Given the description of an element on the screen output the (x, y) to click on. 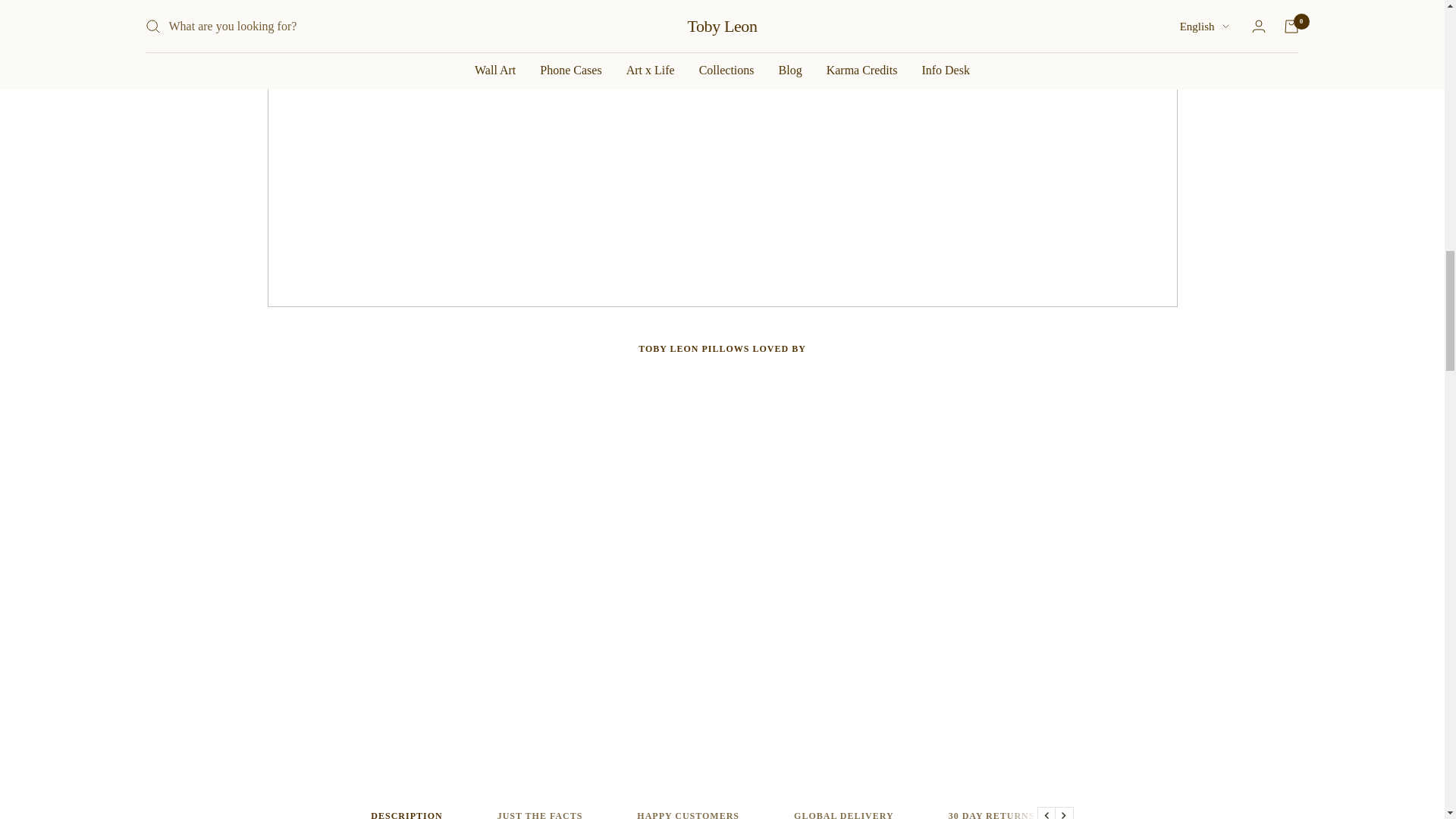
Play video (721, 47)
